Given the description of an element on the screen output the (x, y) to click on. 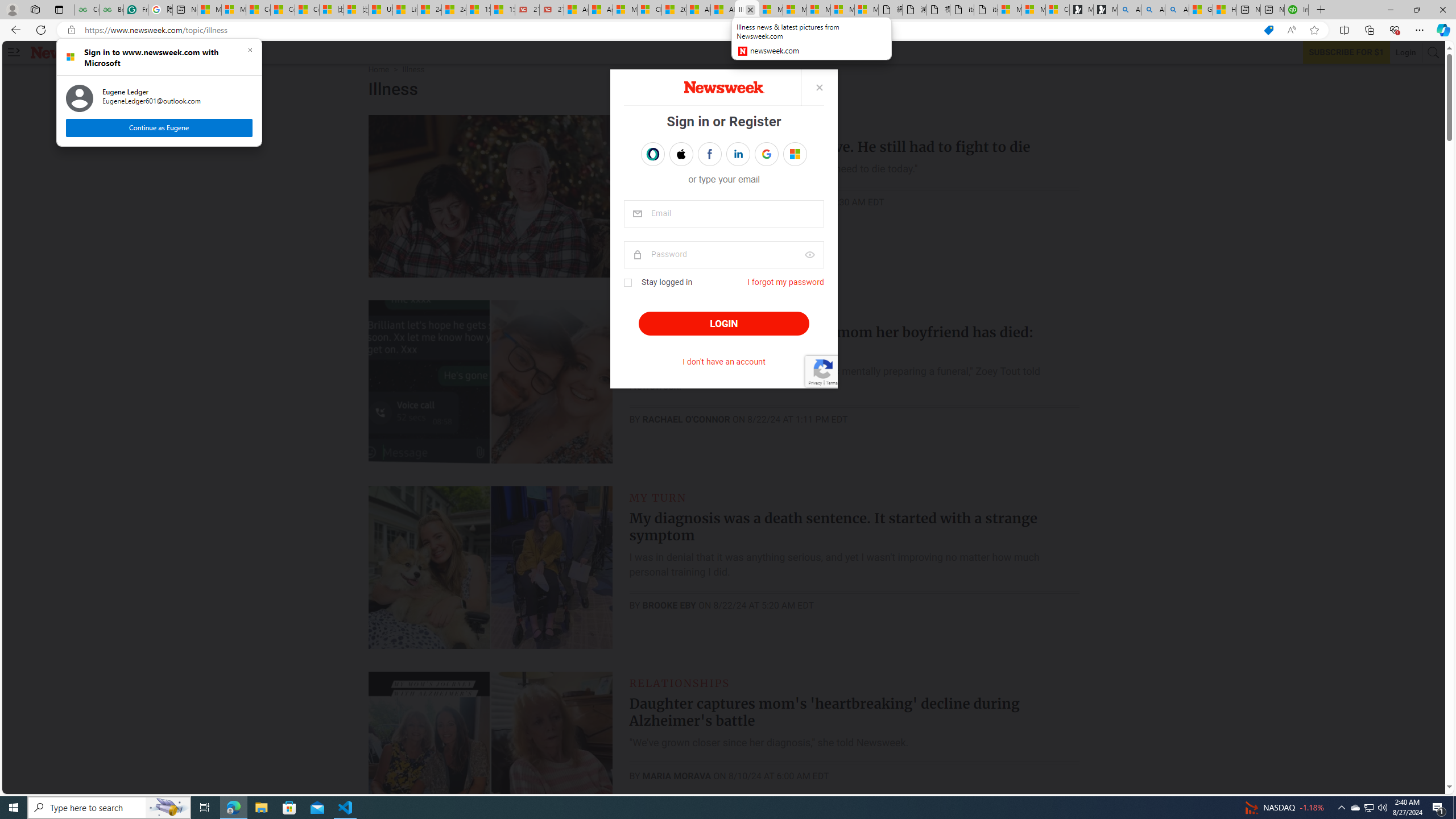
Intuit QuickBooks Online - Quickbooks (1296, 9)
Sign in as Eugene EugeneLedger601@outlook.com (794, 154)
AutomationID: search-btn (1433, 51)
Alabama high school quarterback dies - Search (1128, 9)
RELATIONSHIPS (679, 682)
AutomationID: side-arrow (13, 51)
